Given the description of an element on the screen output the (x, y) to click on. 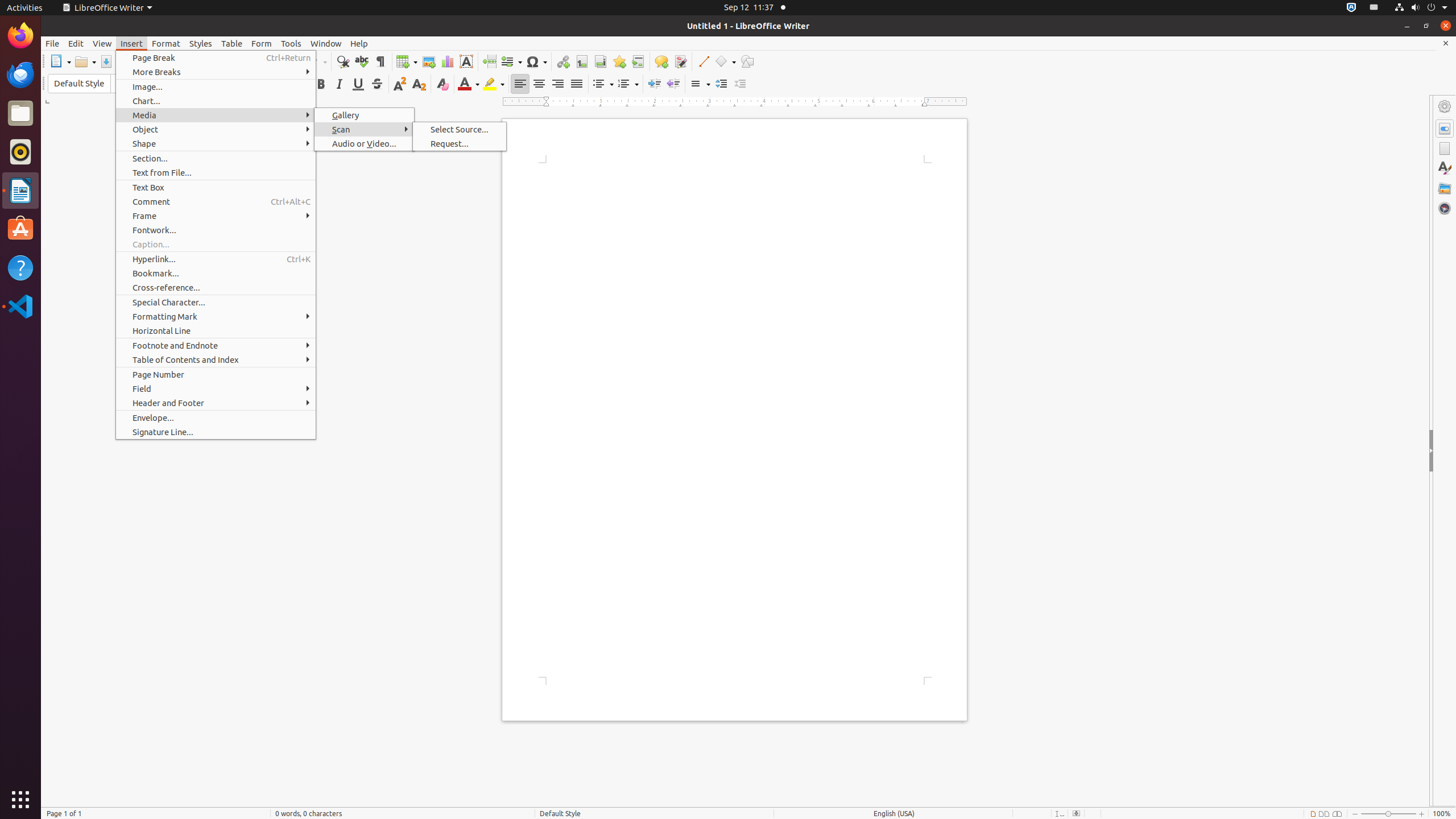
Bookmark... Element type: menu-item (215, 273)
Envelope... Element type: menu-item (215, 417)
Center Element type: toggle-button (538, 83)
Edit Element type: menu (75, 43)
Window Element type: menu (325, 43)
